Given the description of an element on the screen output the (x, y) to click on. 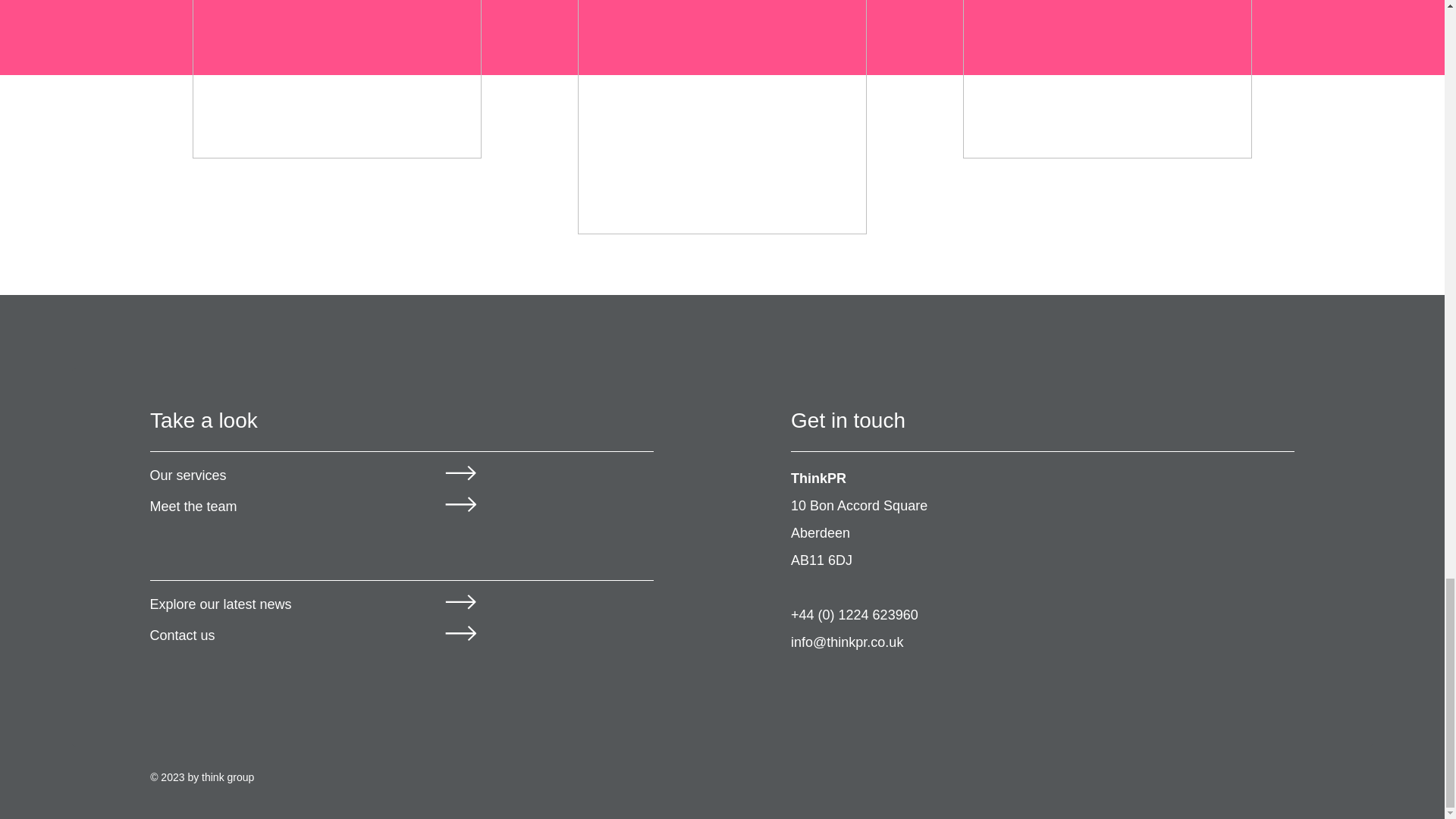
Our services (188, 475)
Meet the team (193, 506)
Explore our latest news (220, 604)
Contact us (182, 635)
